Given the description of an element on the screen output the (x, y) to click on. 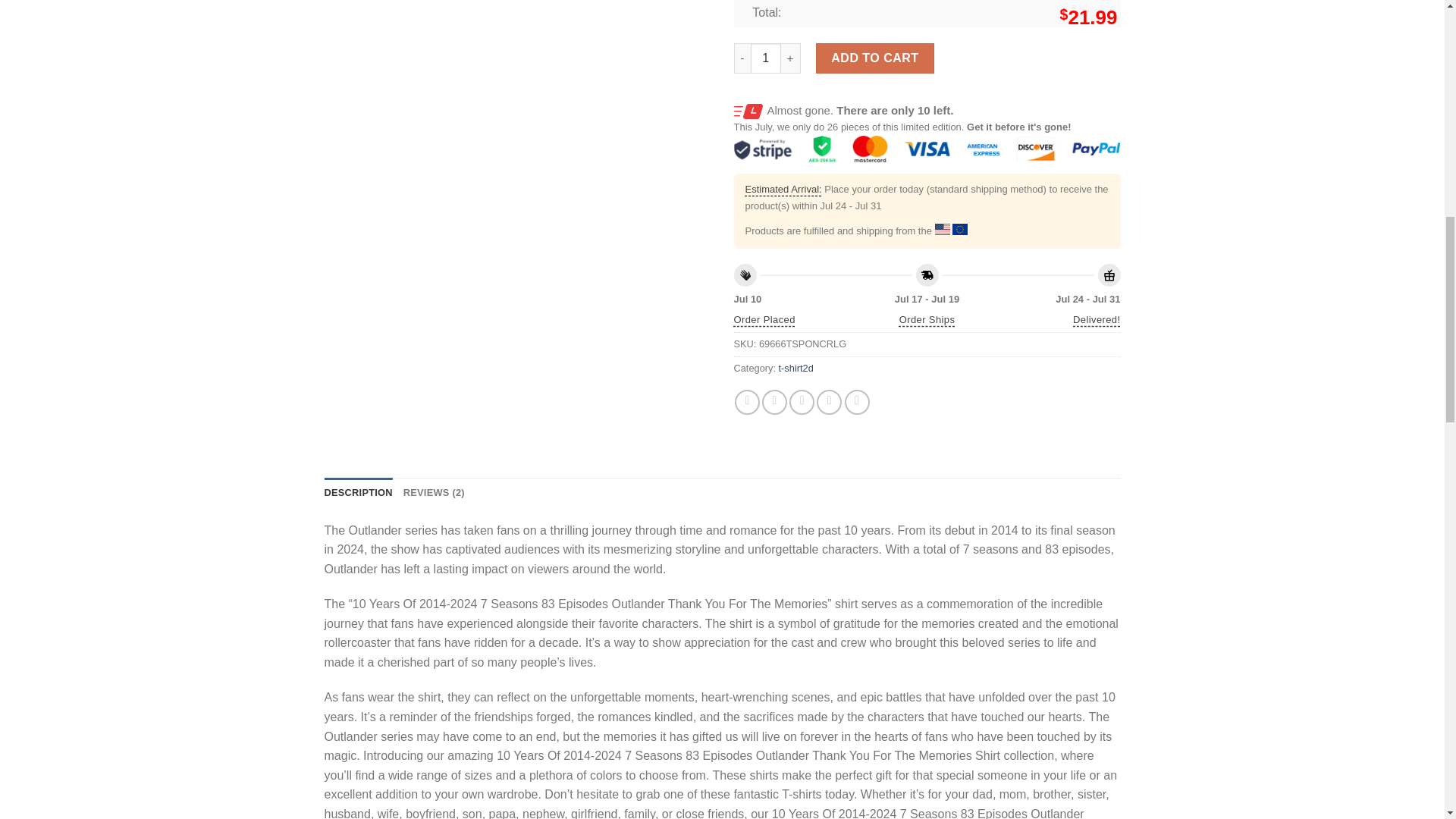
1 (765, 58)
ADD TO CART (874, 58)
Order Placed (763, 319)
